Given the description of an element on the screen output the (x, y) to click on. 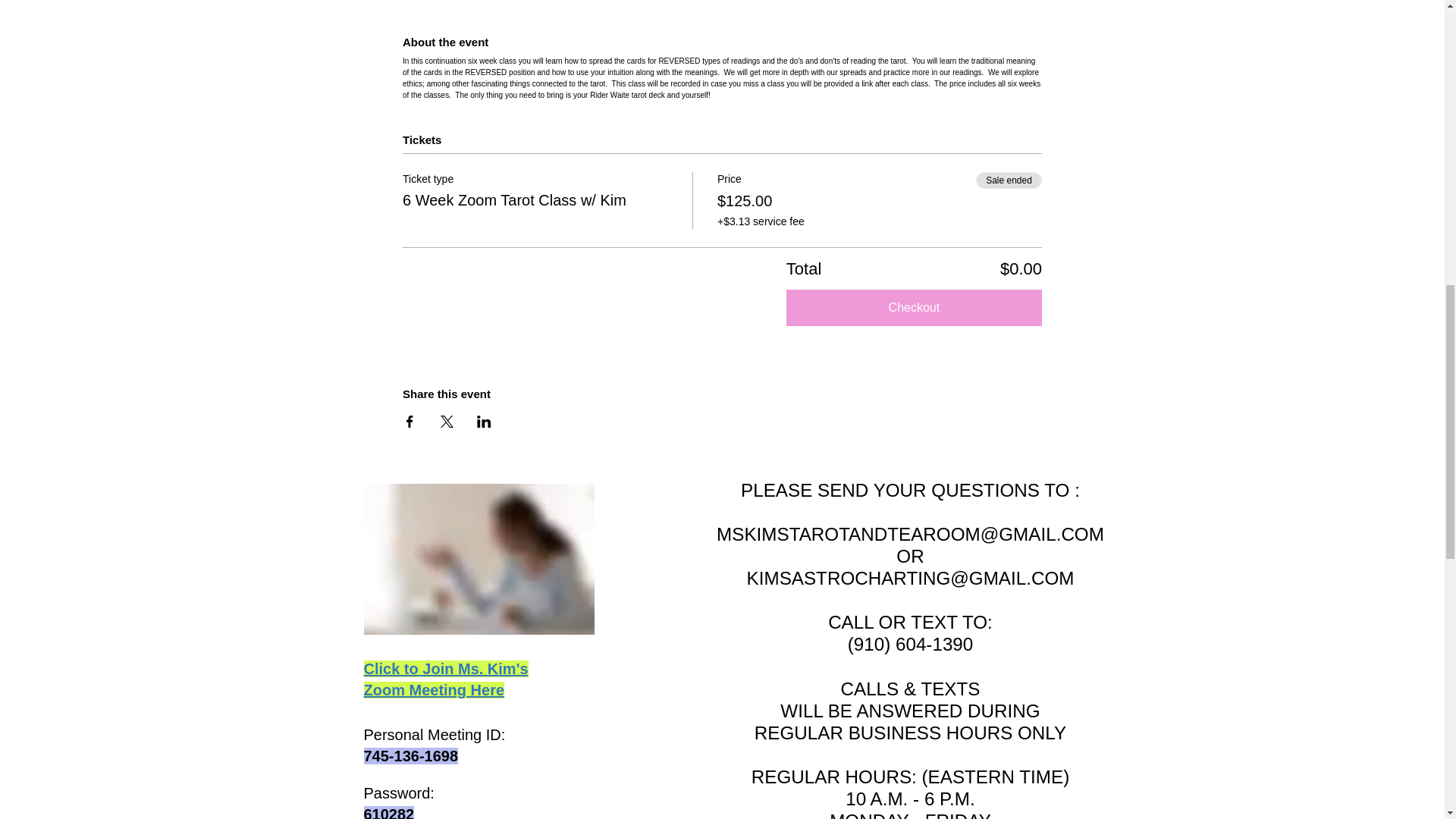
m (400, 689)
Meeting Here (457, 689)
Ms. Kim's (493, 668)
Virtual Meeting (479, 559)
Zoo (377, 689)
Checkout (914, 307)
Click to Join (411, 668)
